Given the description of an element on the screen output the (x, y) to click on. 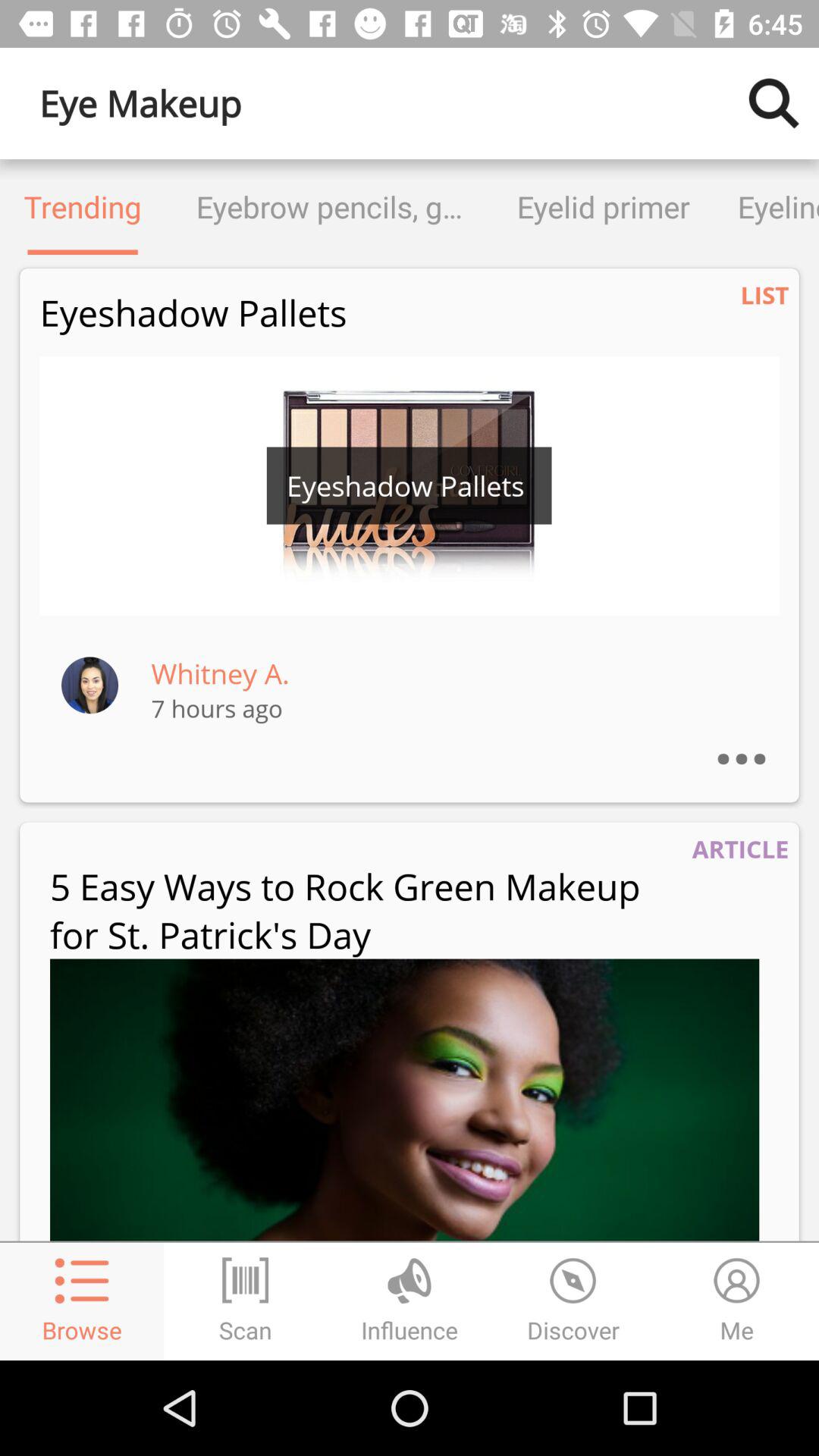
turn off the item above article (756, 738)
